Given the description of an element on the screen output the (x, y) to click on. 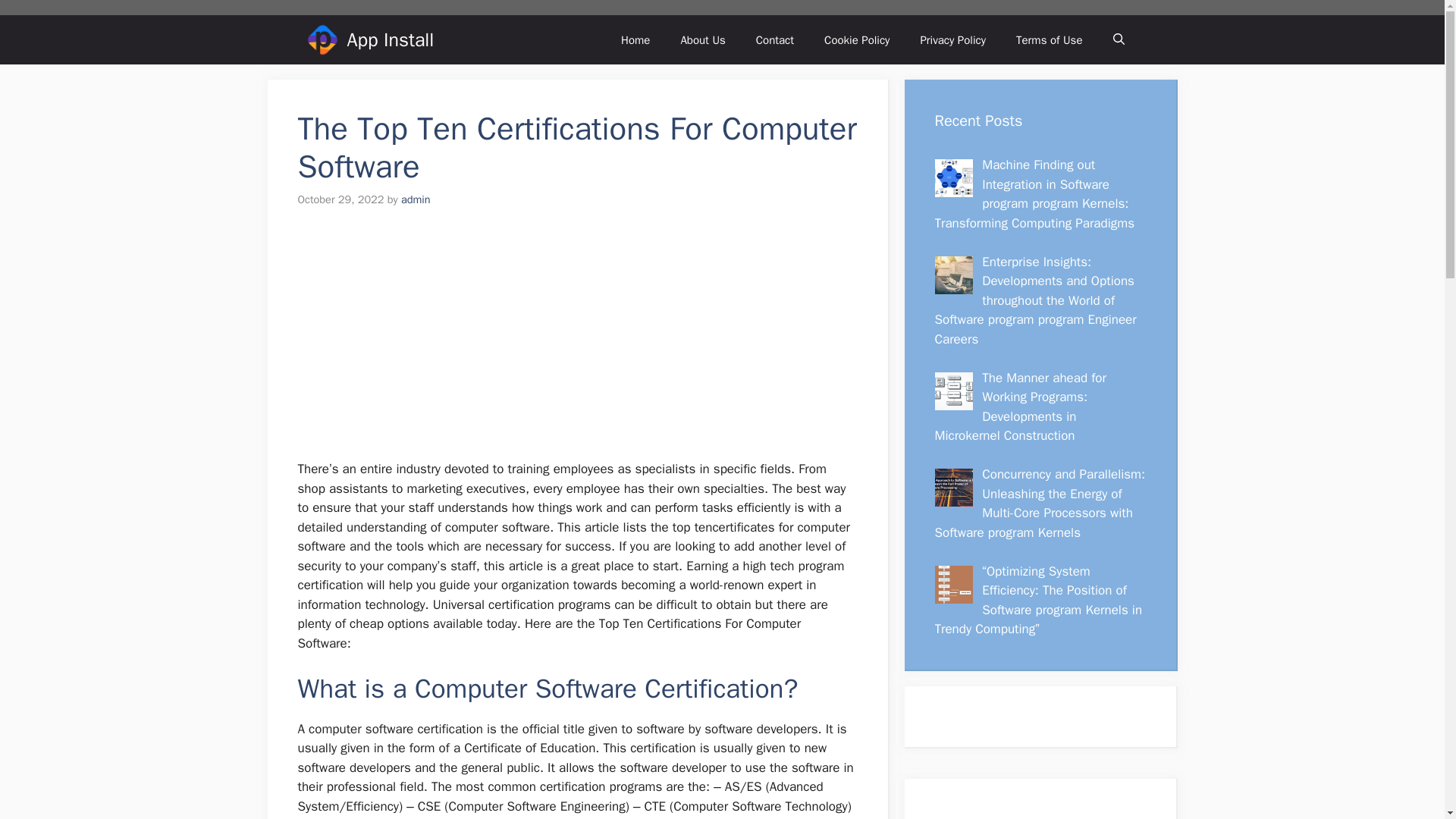
Terms of Use (1049, 39)
About Us (702, 39)
Contact (775, 39)
Cookie Policy (856, 39)
View all posts by admin (415, 199)
admin (415, 199)
